Given the description of an element on the screen output the (x, y) to click on. 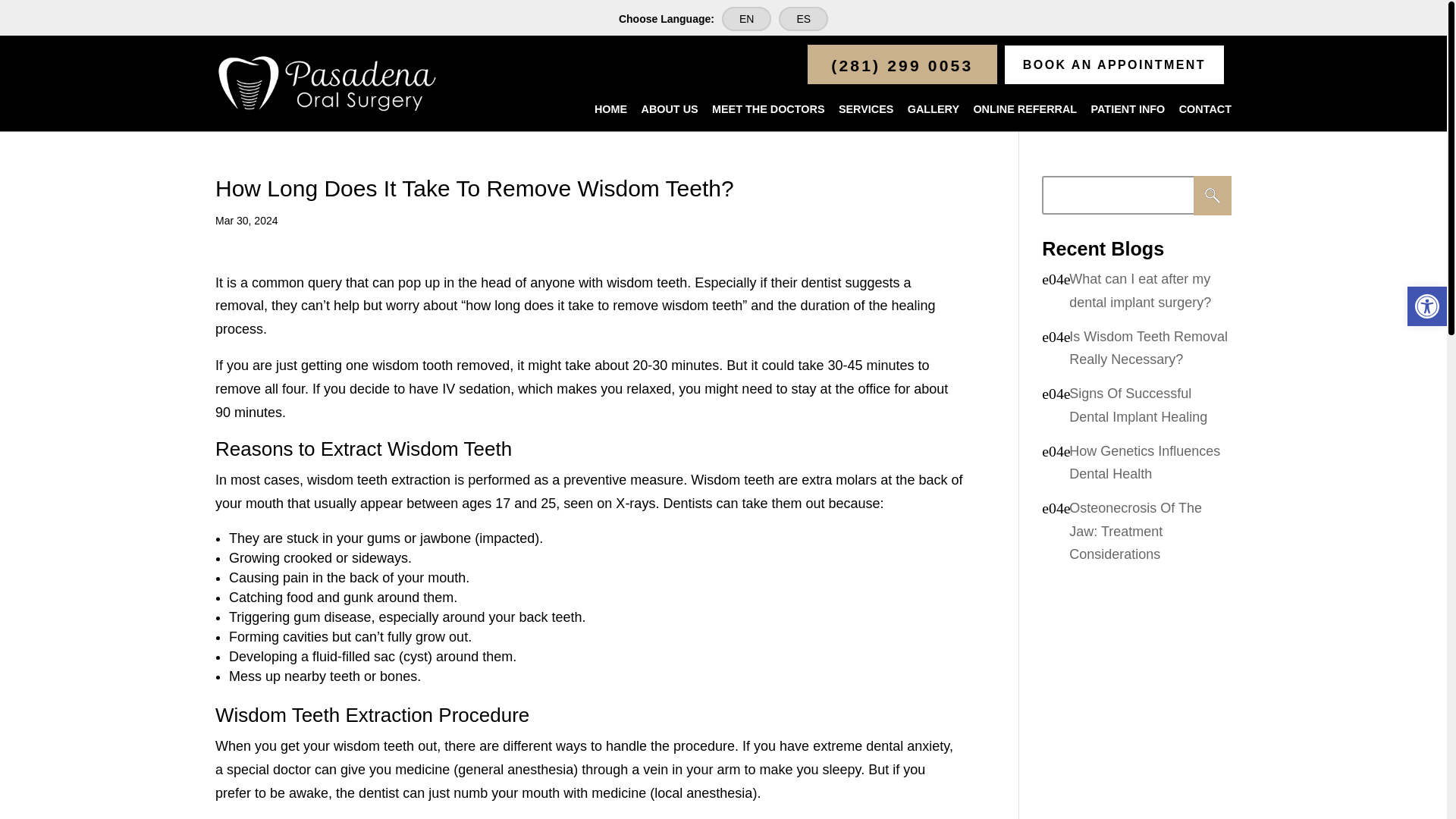
Search (1212, 195)
Accessibility Tools (1427, 306)
pasadena-oral-logo (326, 83)
